Given the description of an element on the screen output the (x, y) to click on. 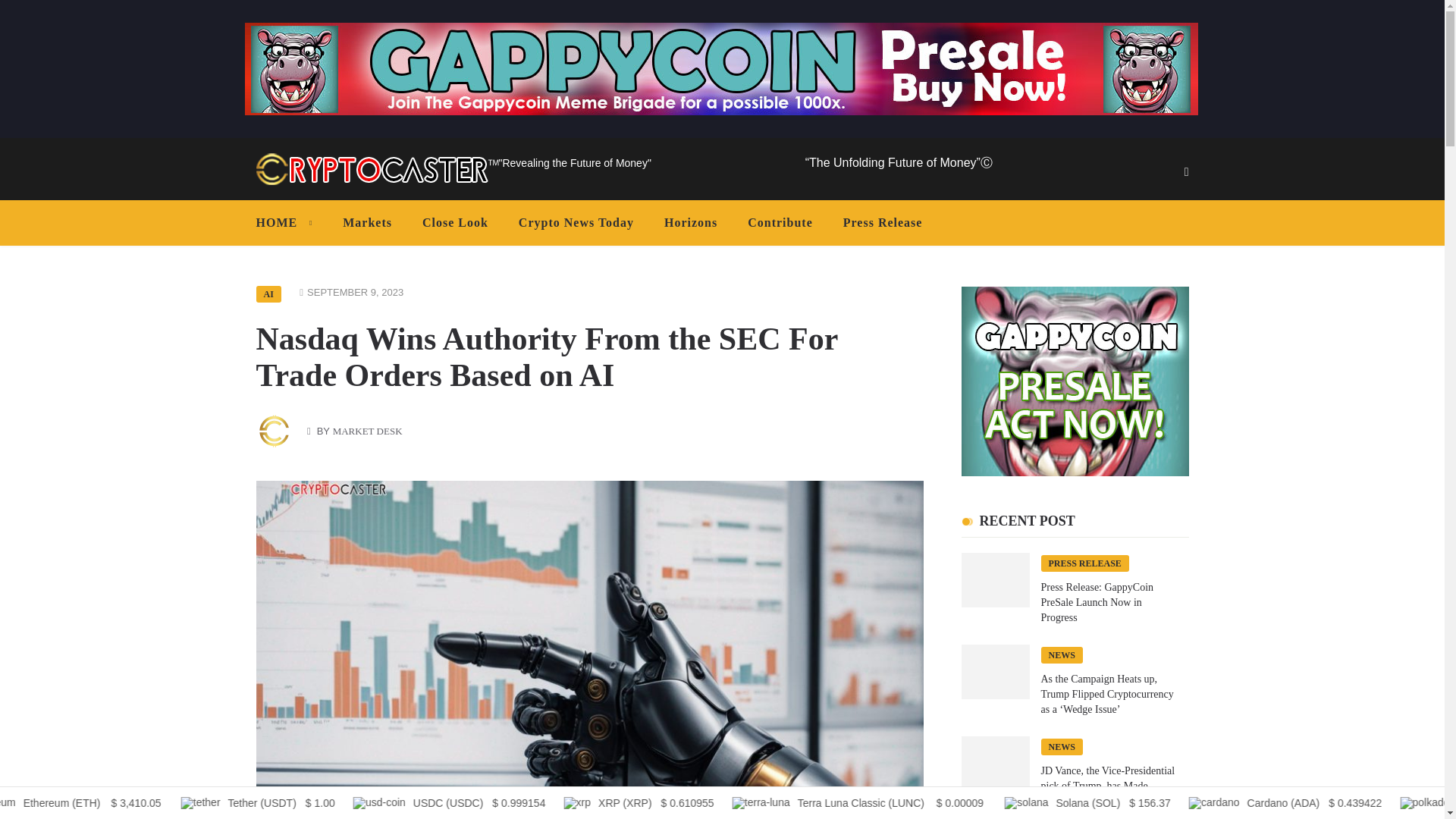
Markets (367, 222)
Press Release (882, 222)
SEPTEMBER 9, 2023 (355, 292)
HOME (288, 222)
Crypto News Today (576, 222)
Contribute (780, 222)
Horizons (690, 222)
MARKET DESK (368, 430)
Close Look (455, 222)
AI (268, 293)
